Given the description of an element on the screen output the (x, y) to click on. 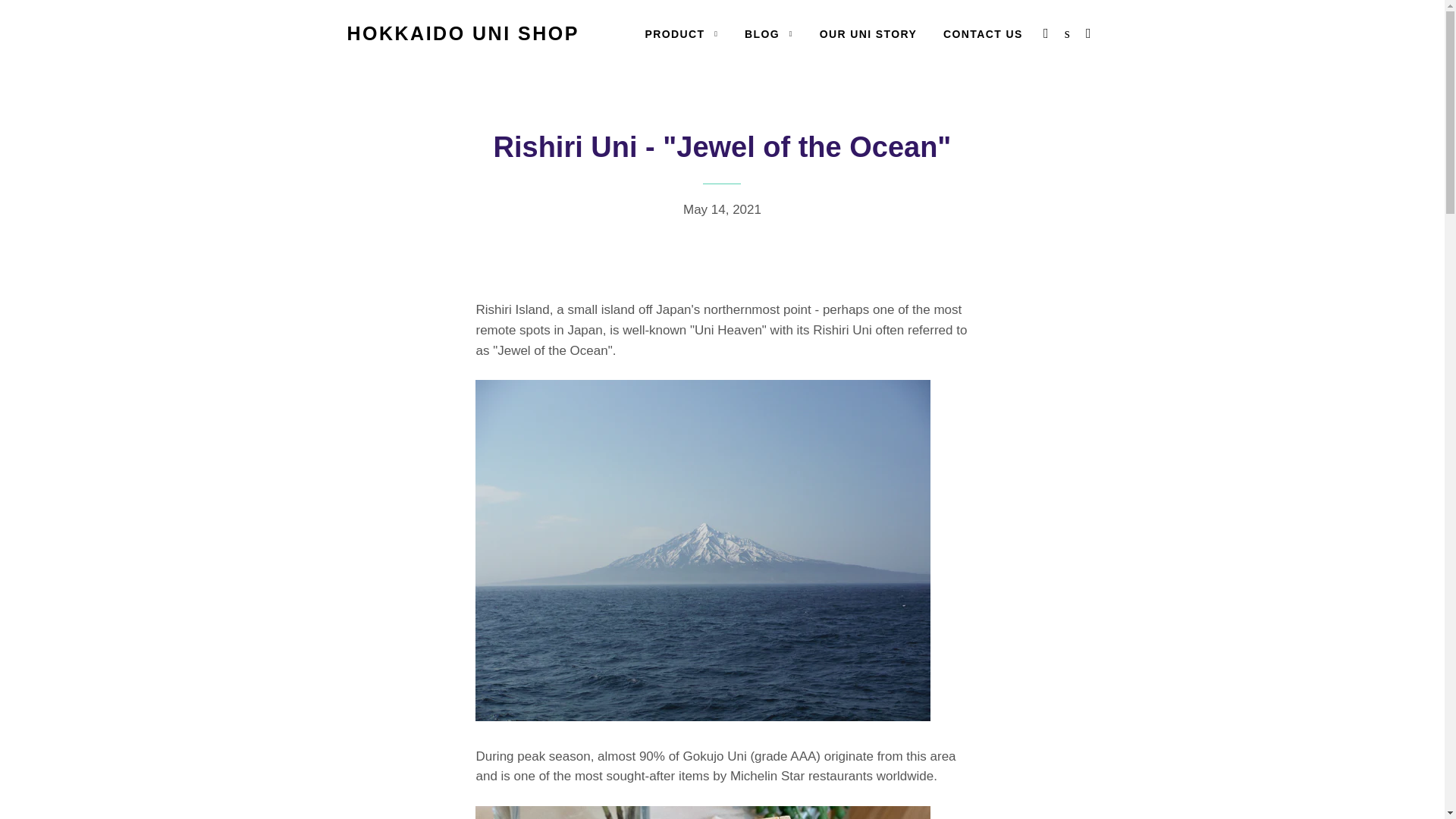
PRODUCT (681, 34)
HOKKAIDO UNI SHOP (463, 33)
